Given the description of an element on the screen output the (x, y) to click on. 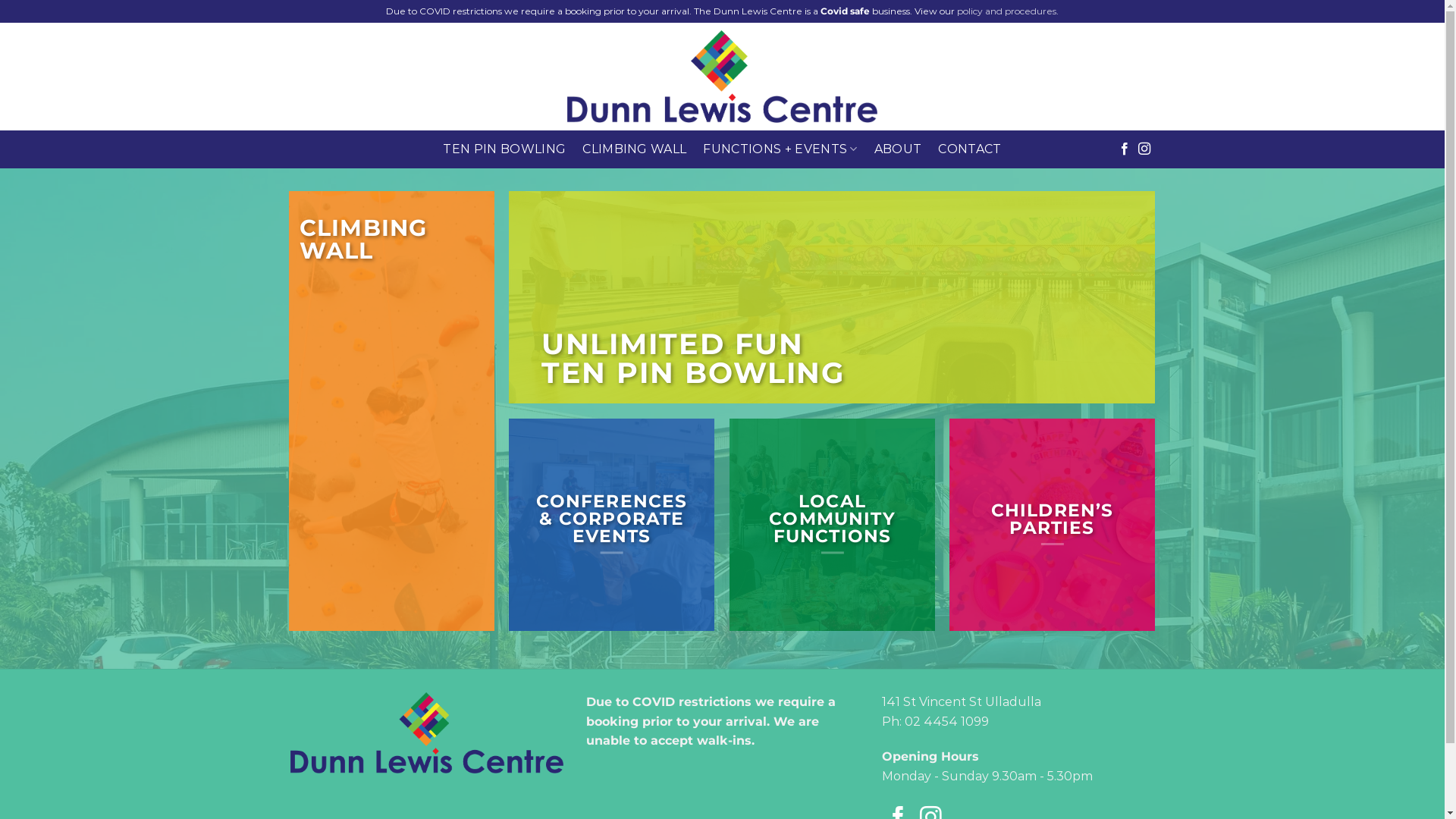
Follow on Instagram Element type: hover (1144, 149)
CONFERENCES & CORPORATE EVENTS Element type: text (611, 518)
Dunn Lewis Centre Element type: hover (721, 76)
CONTACT Element type: text (969, 149)
ABOUT Element type: text (898, 149)
policy and procedures Element type: text (1006, 10)
LOCAL COMMUNITY FUNCTIONS Element type: text (831, 518)
Follow on Facebook Element type: hover (1124, 149)
TEN PIN BOWLING Element type: text (503, 149)
CLIMBING WALL Element type: text (634, 149)
UNLIMITED FUN
TEN PIN BOWLING Element type: text (693, 358)
CLIMBING WALL Element type: text (362, 241)
FUNCTIONS + EVENTS Element type: text (779, 149)
